Given the description of an element on the screen output the (x, y) to click on. 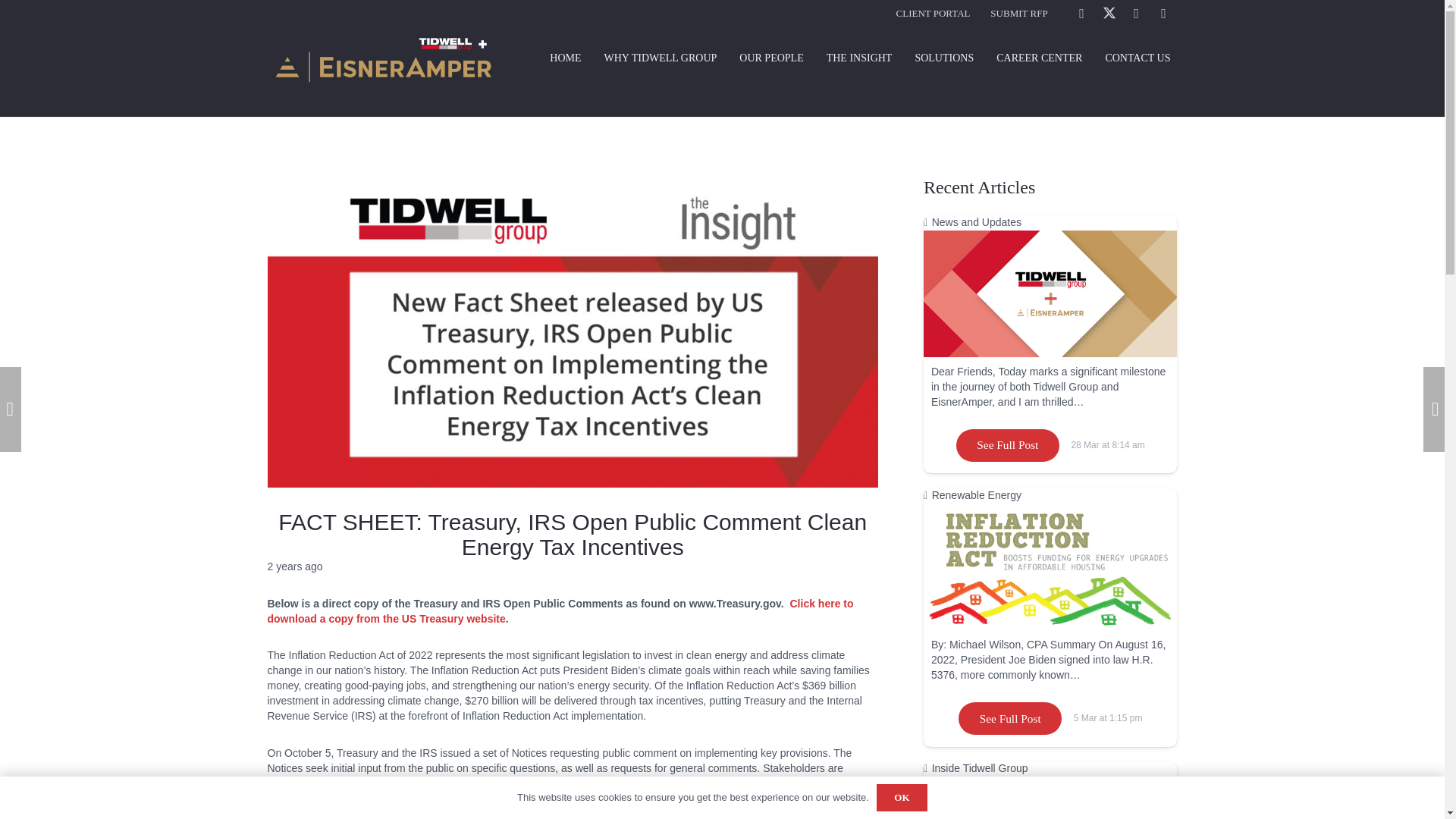
Twitter (1108, 13)
OUR PEOPLE (770, 57)
CAREER CENTER (1039, 57)
CLIENT PORTAL (933, 12)
WHY TIDWELL GROUP (660, 57)
HOME (565, 57)
Inside Tidwell Group (979, 767)
SUBMIT RFP (1018, 12)
Click here to download a copy from the US Treasury website (559, 610)
SOLUTIONS (943, 57)
See Full Post (1007, 445)
Renewable Energy (976, 494)
CONTACT US (1136, 57)
News and Updates (976, 222)
